Given the description of an element on the screen output the (x, y) to click on. 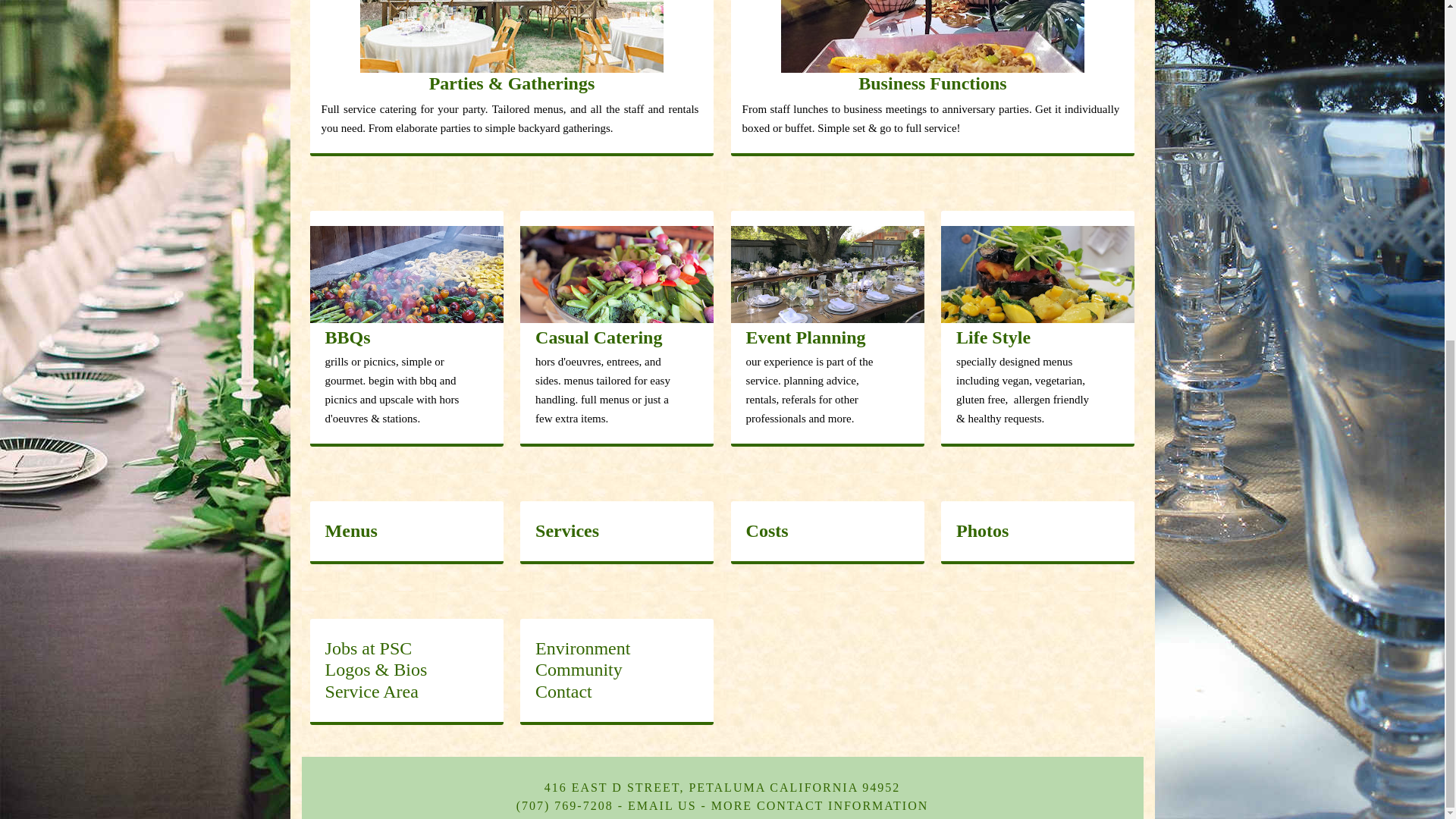
Costs (827, 531)
Casual Catering (616, 307)
Find Us (722, 787)
Business Functions (932, 47)
Contact Info (819, 805)
Event Planning (827, 307)
Services (566, 530)
Menus (406, 531)
Photos (1037, 531)
Life Style (1037, 307)
Let's Party! (662, 805)
BBQs (406, 307)
Call Us (564, 805)
